Given the description of an element on the screen output the (x, y) to click on. 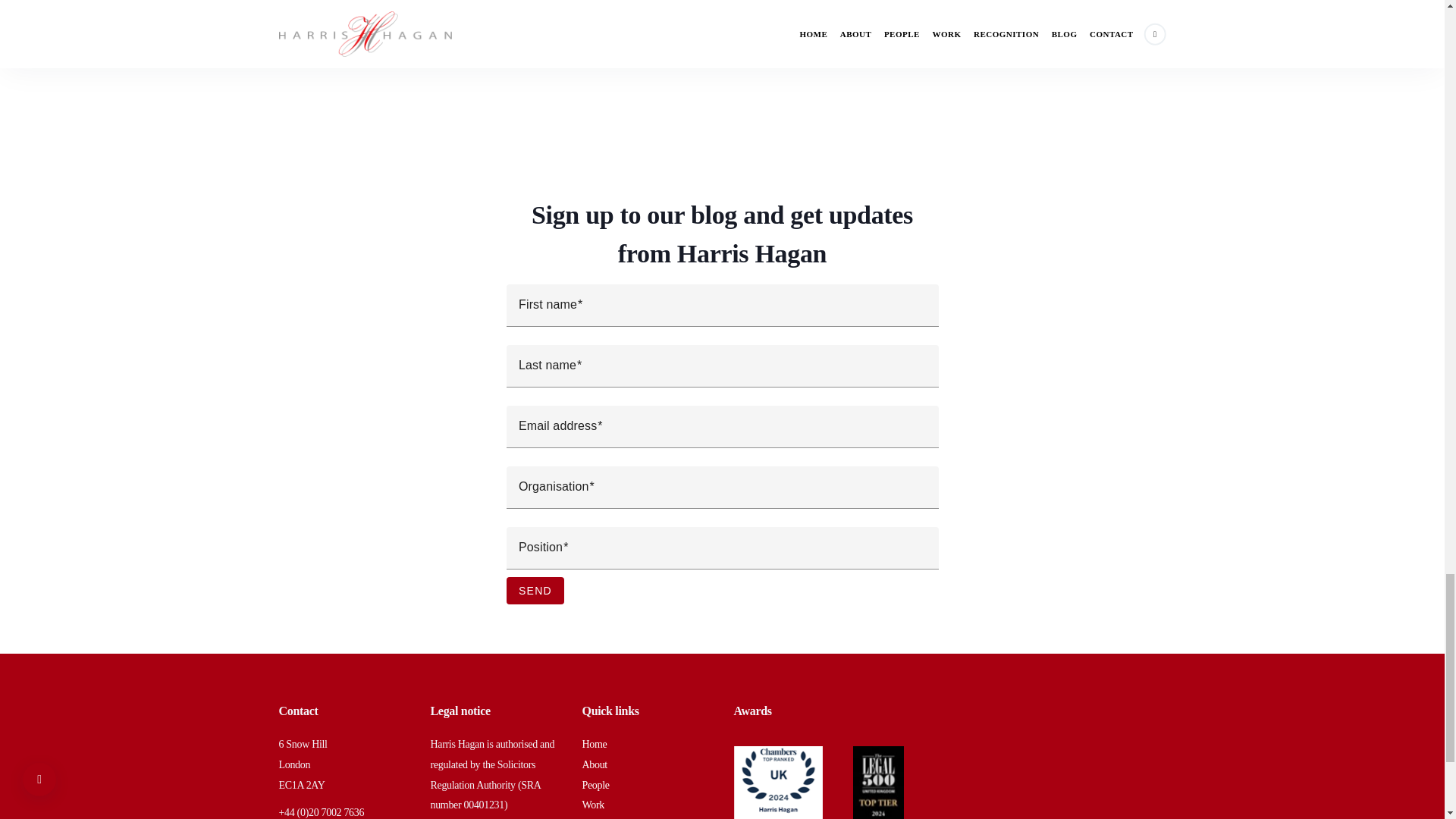
Post Comment (469, 50)
